Given the description of an element on the screen output the (x, y) to click on. 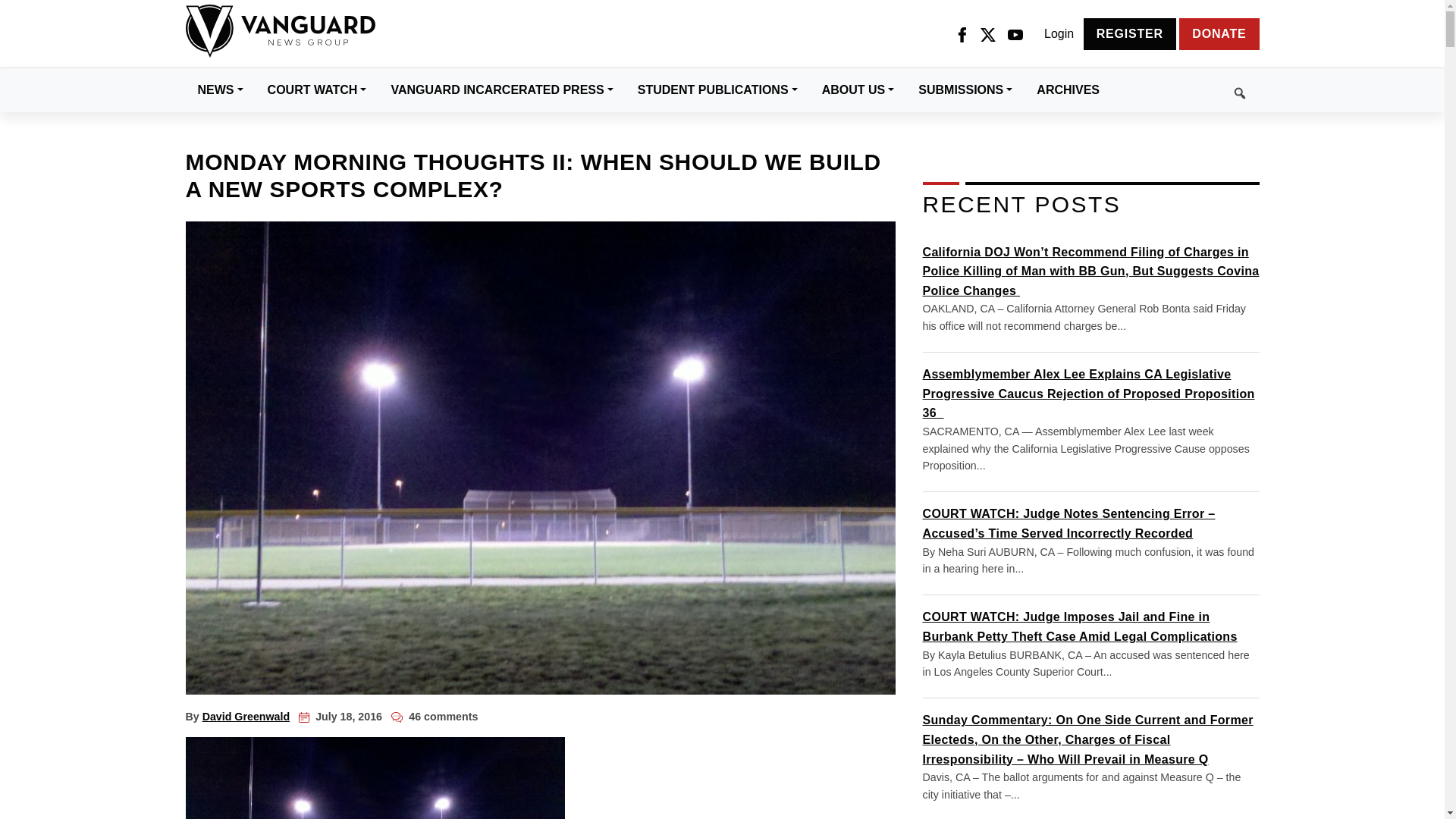
Search (1185, 90)
NEWS (219, 89)
Twitter (987, 34)
Facebook (962, 34)
REGISTER (1129, 33)
Login (1058, 34)
YouTube (1015, 34)
DONATE (1219, 33)
